Given the description of an element on the screen output the (x, y) to click on. 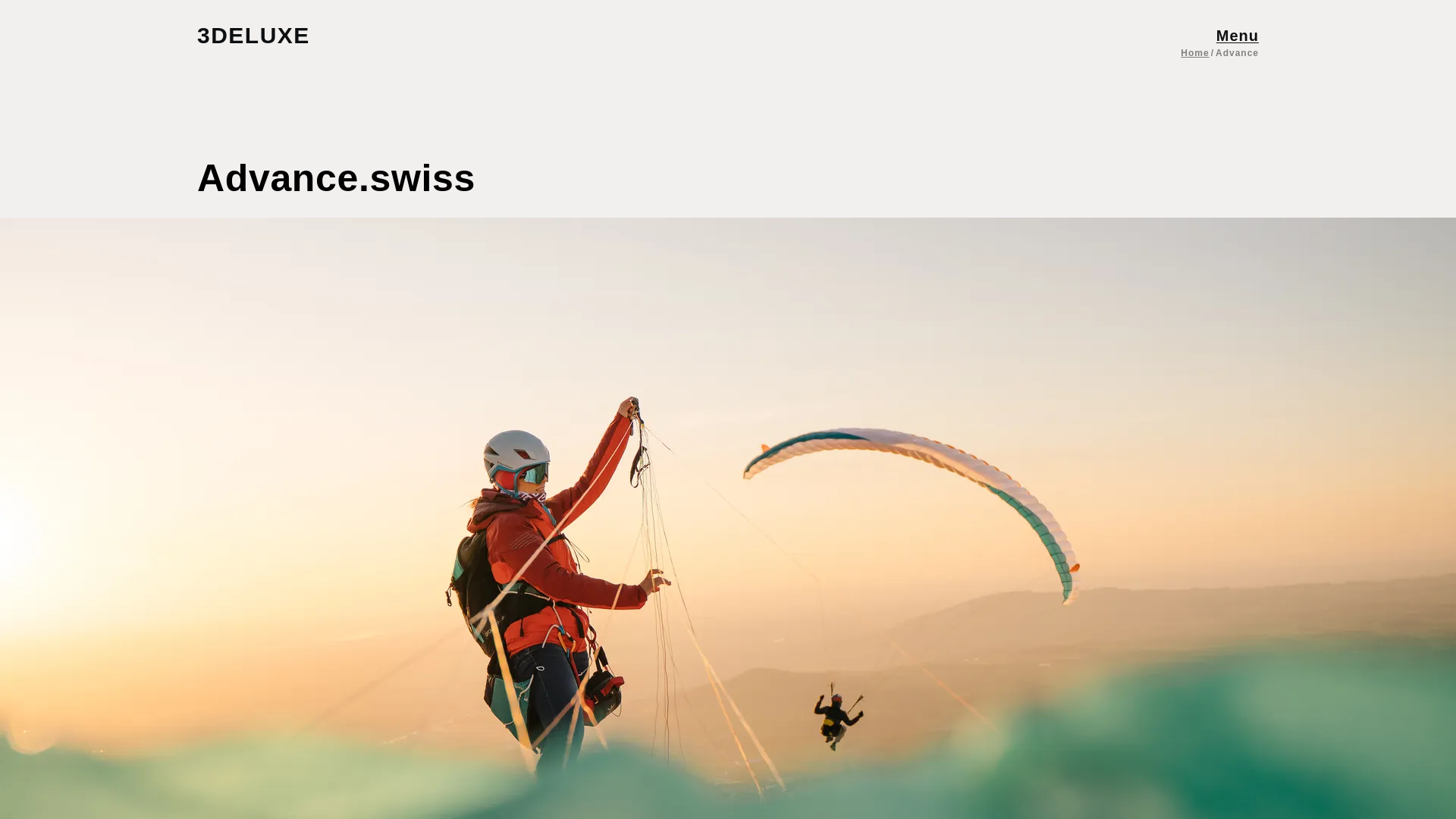
Menu (1237, 35)
3DELUXE (268, 35)
Home (1194, 52)
